Given the description of an element on the screen output the (x, y) to click on. 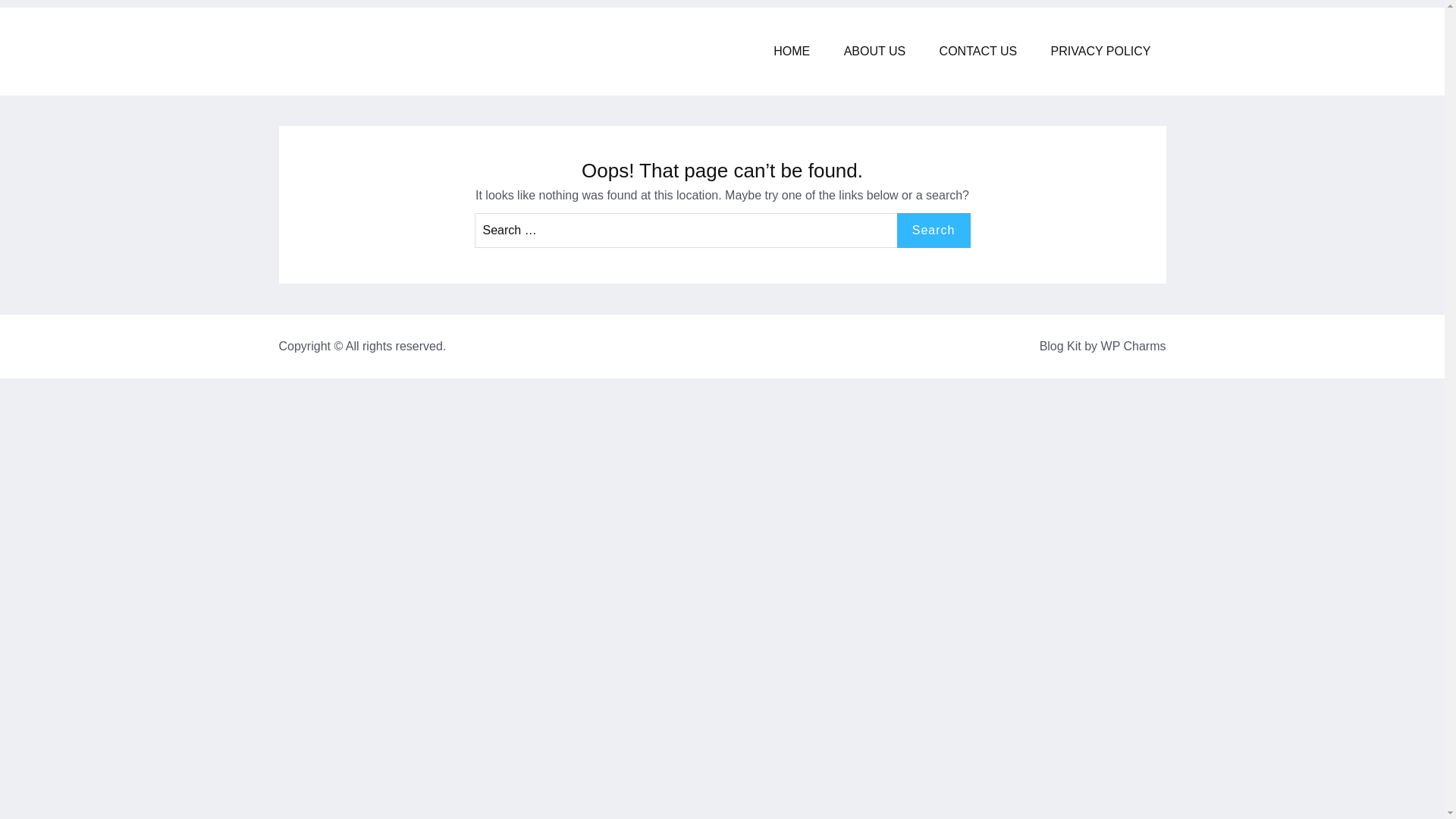
Search (933, 230)
CONTACT US (978, 51)
Search (933, 230)
PRIVACY POLICY (1100, 51)
WP Charms (1133, 345)
Search (933, 230)
ABOUT US (874, 51)
